Given the description of an element on the screen output the (x, y) to click on. 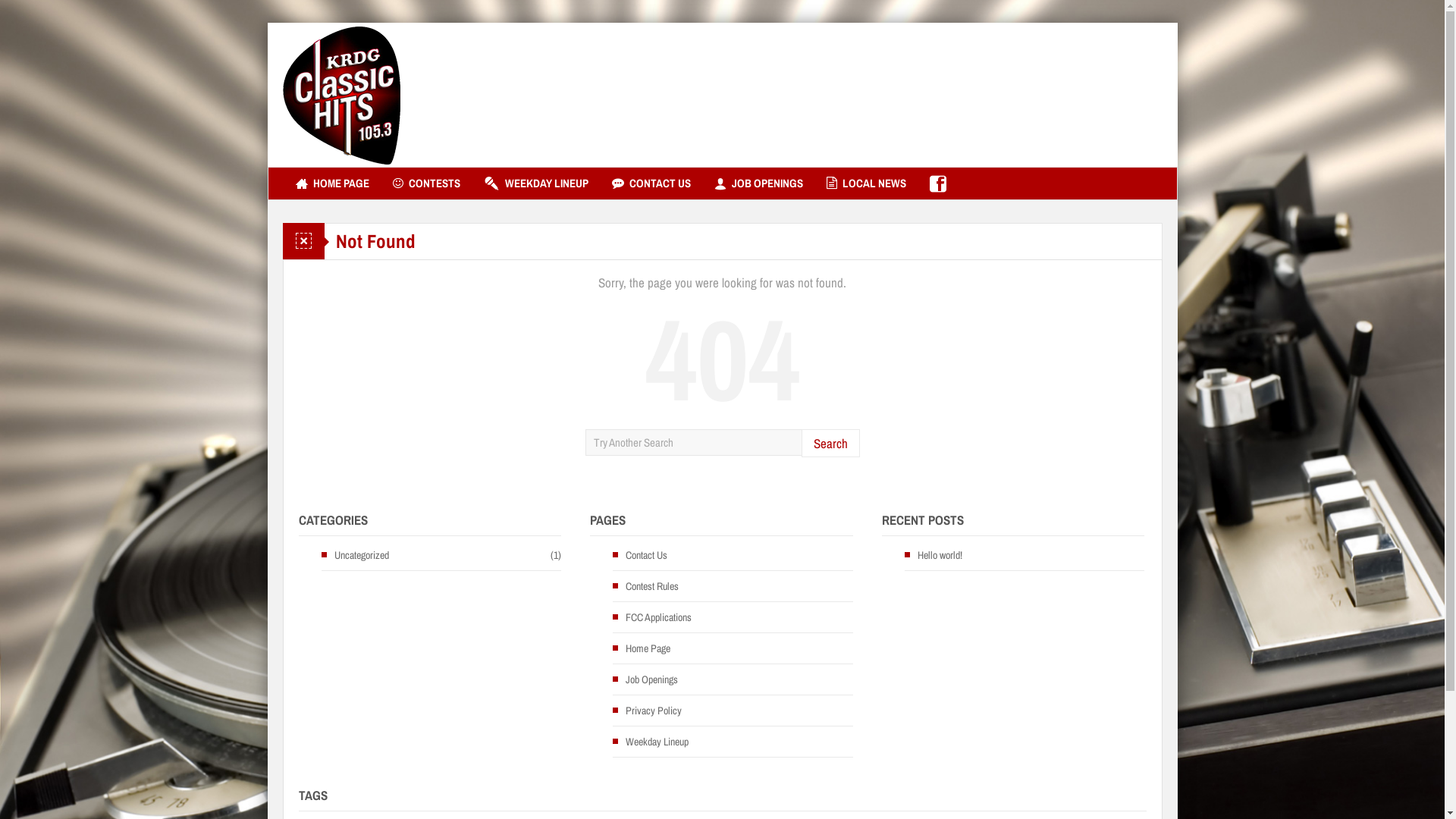
Contact Us Element type: text (639, 554)
WEEKDAY LINEUP Element type: text (535, 183)
HOME PAGE Element type: text (331, 183)
LOCAL NEWS Element type: text (865, 183)
CONTESTS Element type: text (425, 183)
JOB OPENINGS Element type: text (757, 183)
Uncategorized Element type: text (355, 554)
Search for: Element type: hover (693, 442)
Hello world! Element type: text (933, 554)
Search Element type: text (829, 443)
Contest Rules Element type: text (645, 585)
Weekday Lineup Element type: text (650, 741)
Home Page Element type: text (641, 647)
FCC Applications Element type: text (651, 616)
105.3 Classic Hits Element type: hover (340, 94)
Advertisement Element type: hover (885, 94)
Job Openings Element type: text (644, 679)
CONTACT US Element type: text (651, 183)
Privacy Policy Element type: text (646, 710)
